Given the description of an element on the screen output the (x, y) to click on. 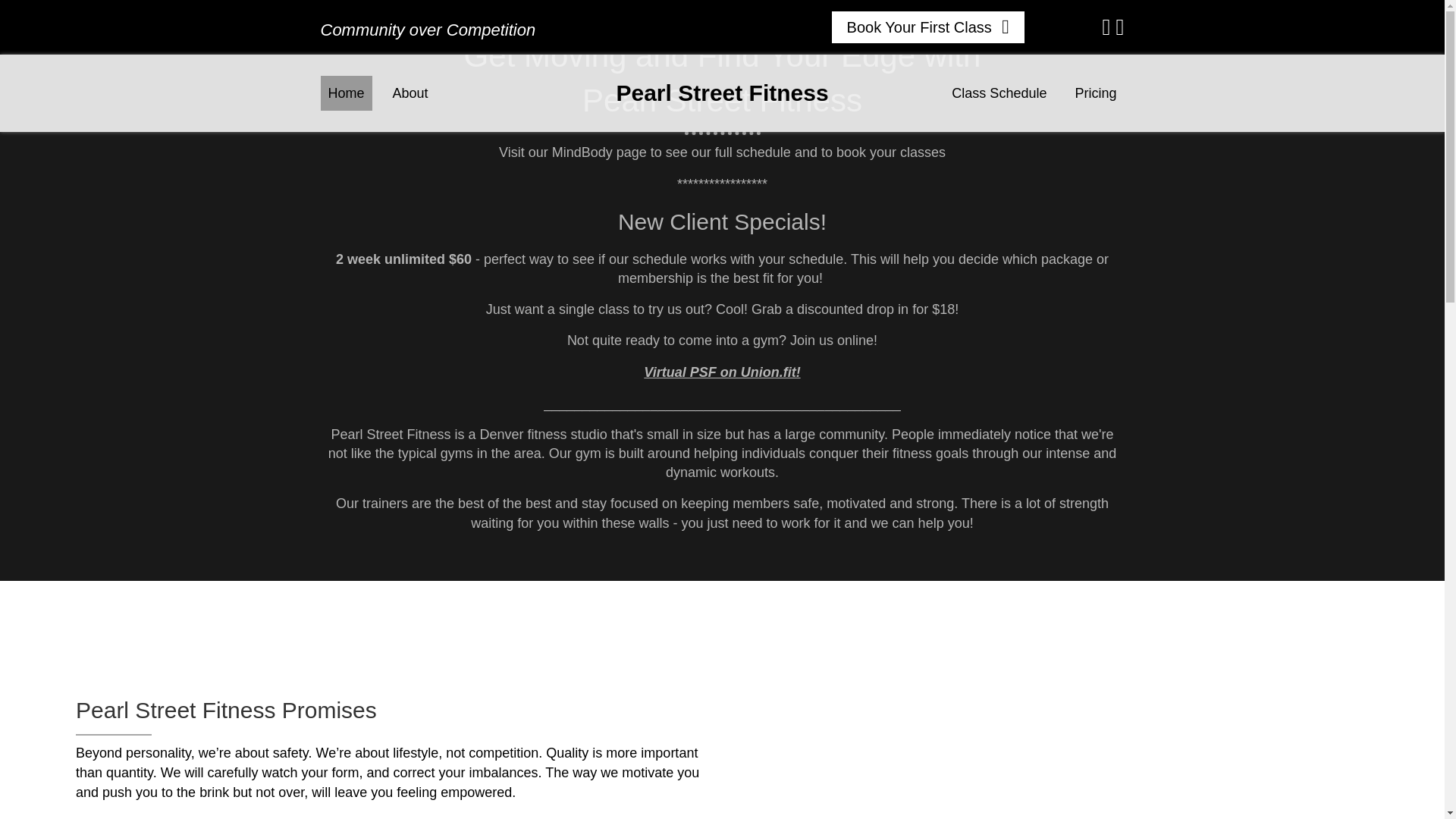
Pearl Street Fitness (721, 92)
About (410, 93)
Virtual PSF on Union.fit! (721, 372)
Book Your First Class (928, 27)
Home (345, 93)
Pearl Street Fitness (721, 92)
Pricing (1095, 93)
Class Schedule (998, 93)
